Given the description of an element on the screen output the (x, y) to click on. 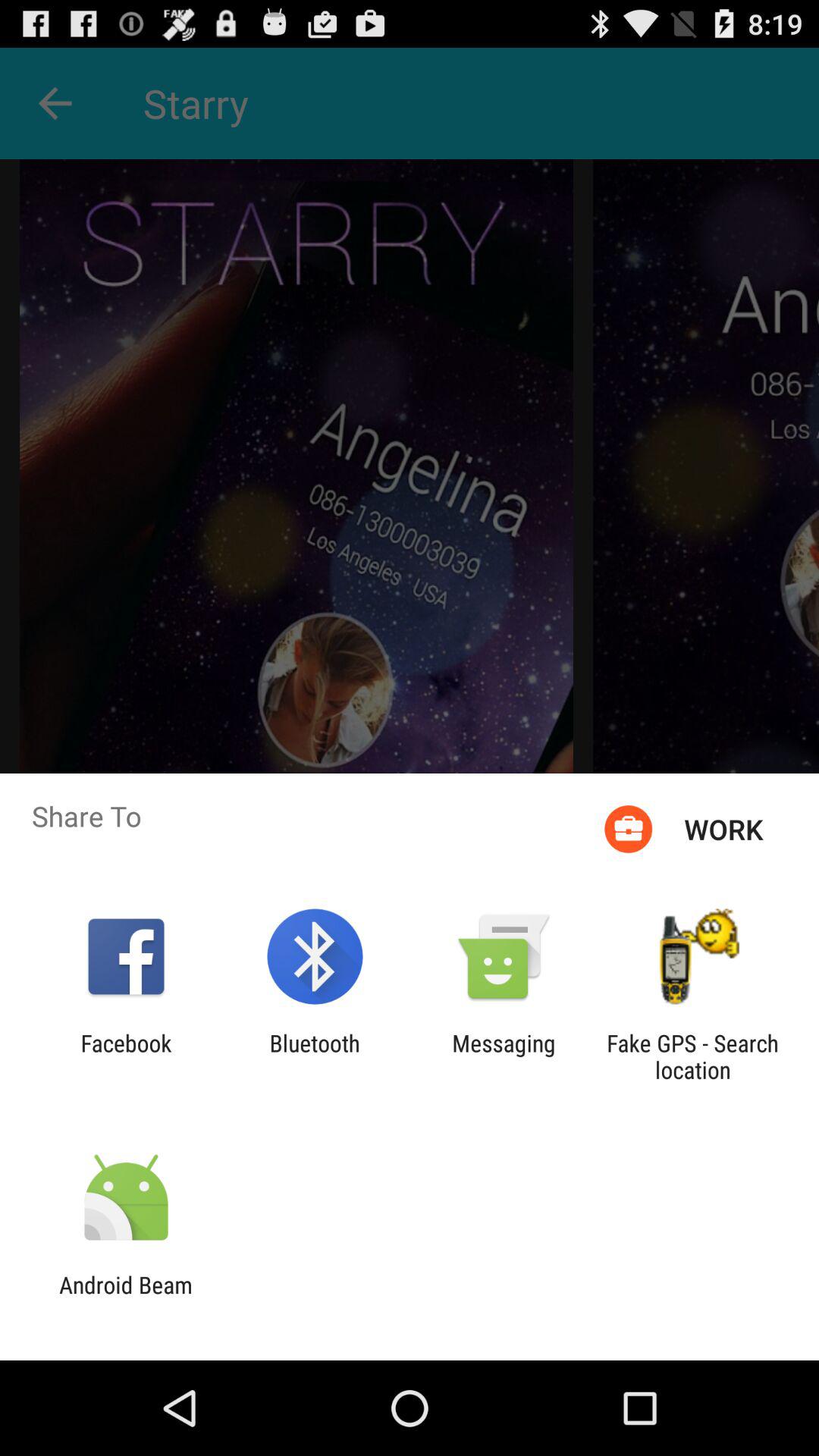
scroll until bluetooth app (314, 1056)
